Given the description of an element on the screen output the (x, y) to click on. 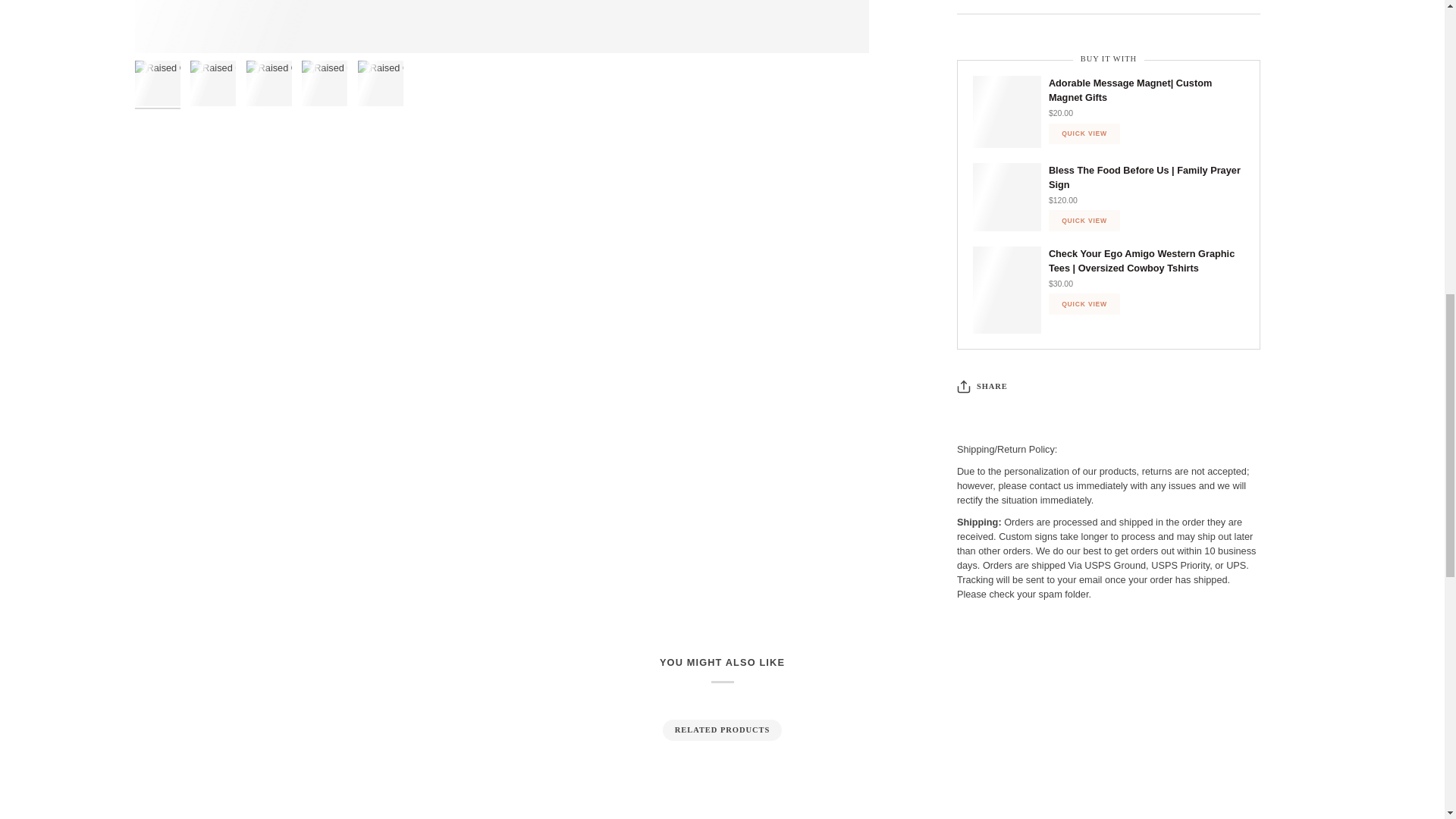
RELATED PRODUCTS (722, 730)
